Given the description of an element on the screen output the (x, y) to click on. 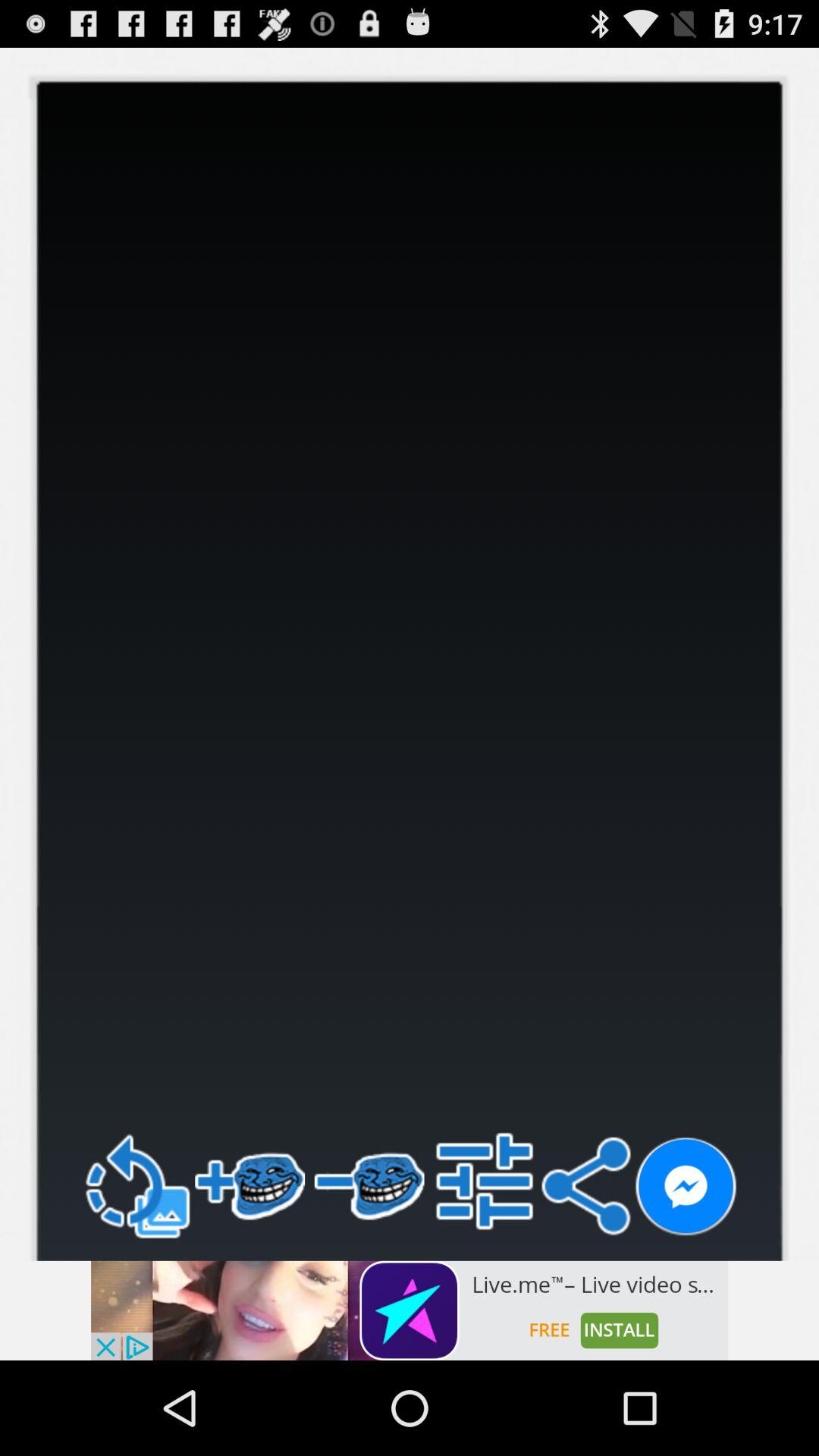
visit the advertiser 's website (409, 1310)
